Given the description of an element on the screen output the (x, y) to click on. 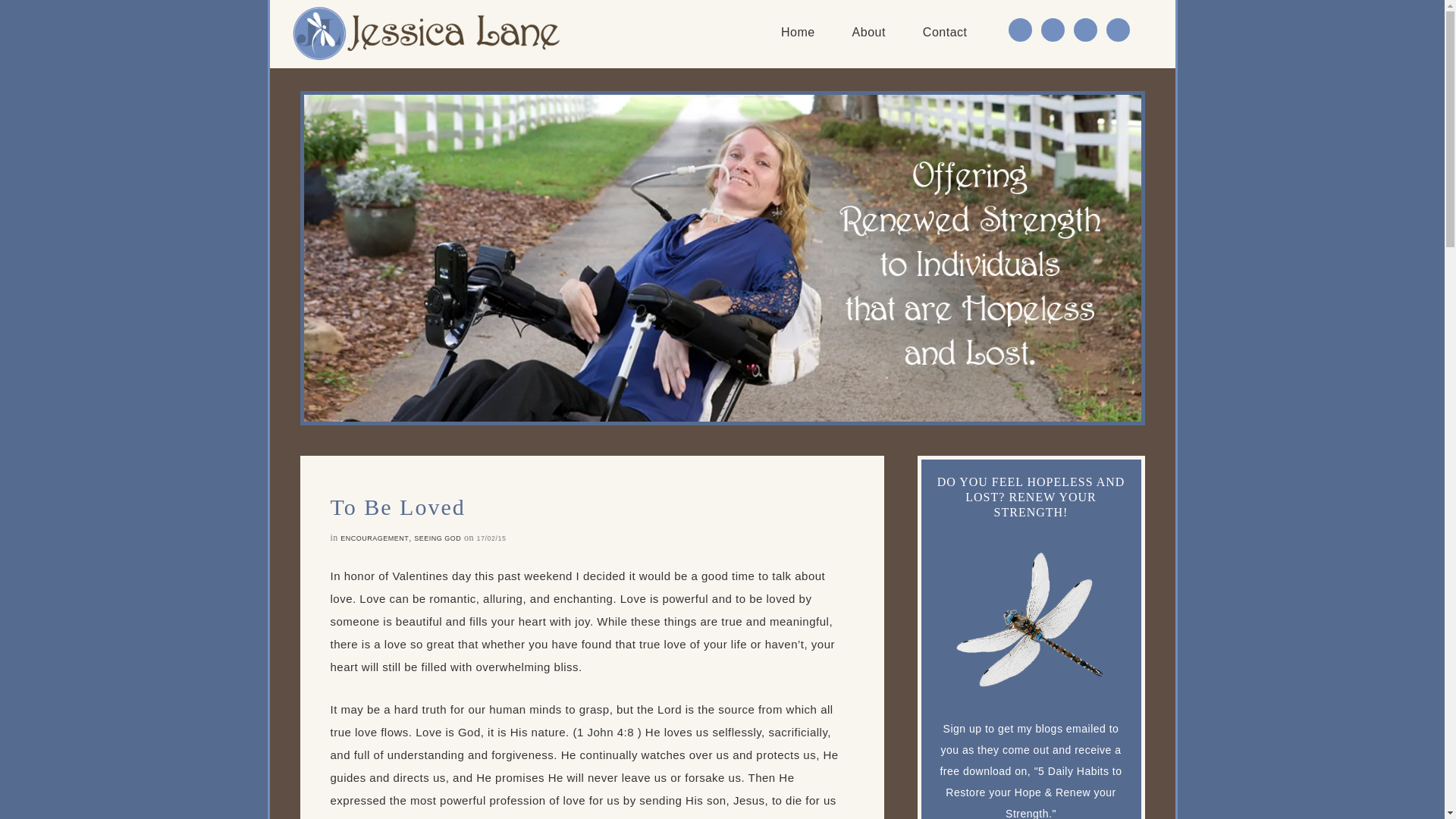
ENCOURAGEMENT (374, 538)
Home (797, 32)
Contact (944, 32)
JESSICA LANE (425, 33)
SEEING GOD (437, 538)
About (868, 32)
